Given the description of an element on the screen output the (x, y) to click on. 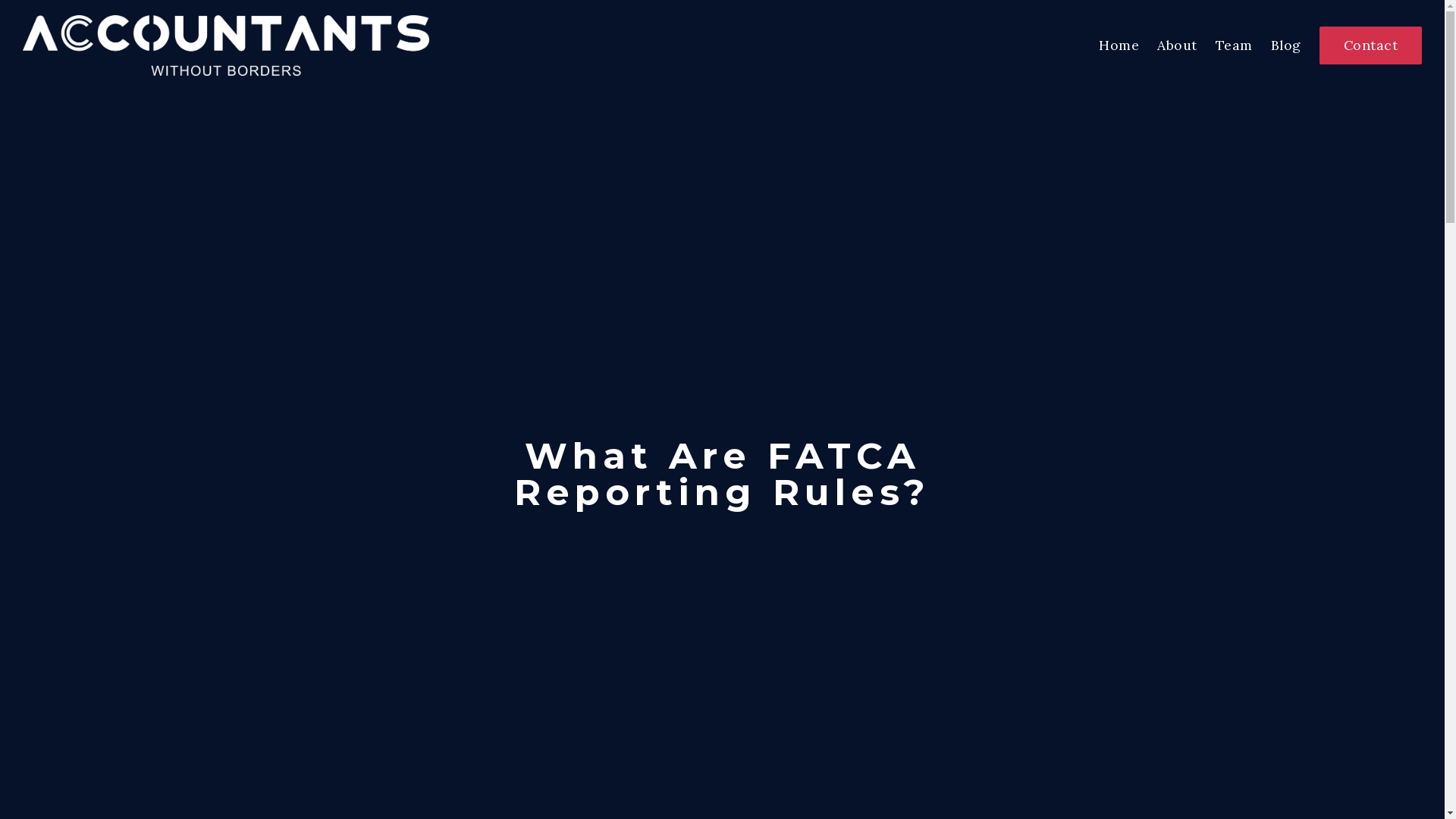
Contact Element type: text (1370, 45)
Home Element type: text (1118, 44)
Team Element type: text (1233, 44)
About Element type: text (1177, 44)
Blog Element type: text (1285, 44)
